Given the description of an element on the screen output the (x, y) to click on. 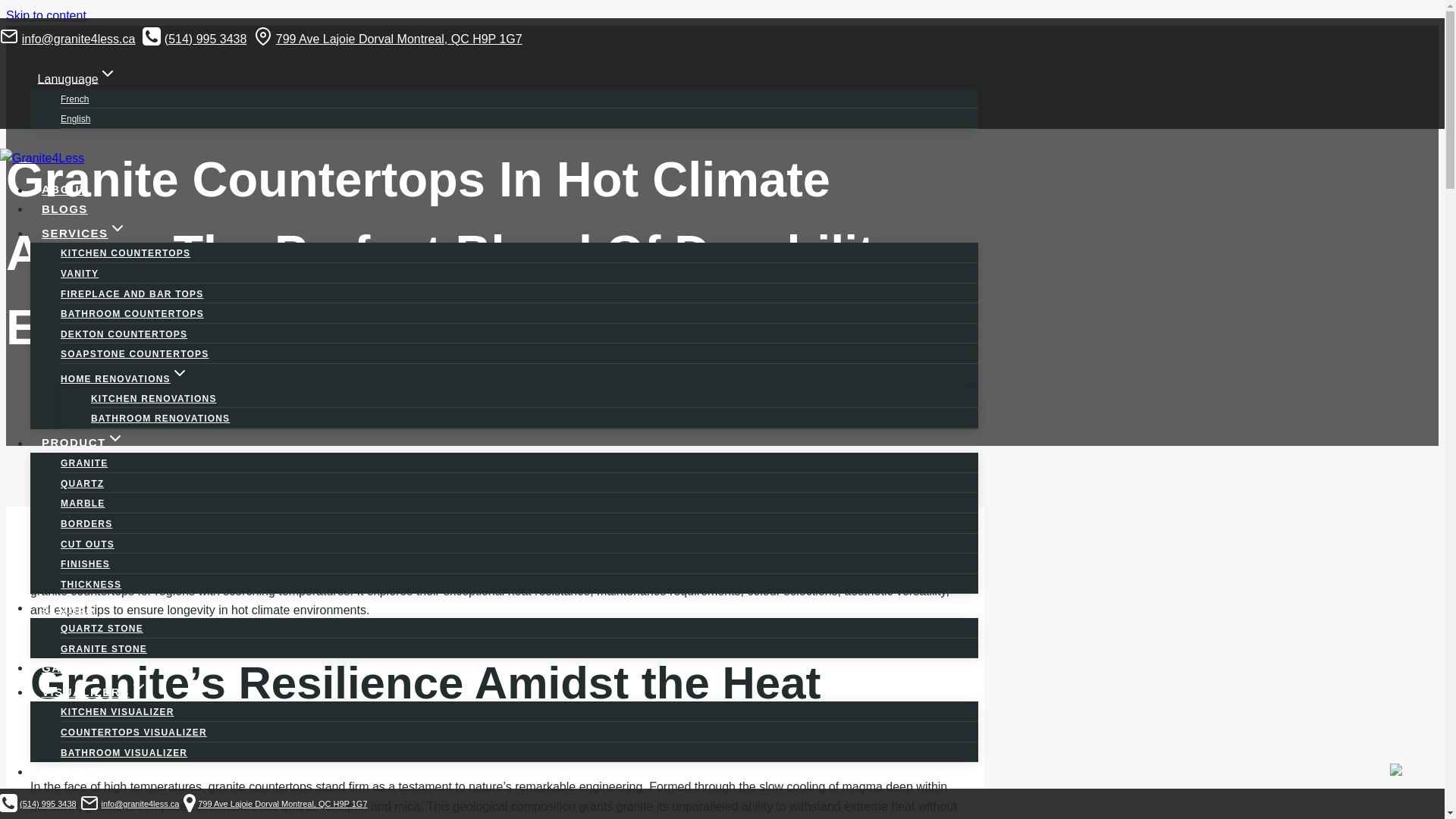
EXPAND (138, 687)
SOAPSTONE COUNTERTOPS (134, 353)
VANITY (80, 273)
English (75, 118)
LanuguageExpand (76, 78)
BATHROOM RENOVATIONS (160, 418)
EXPAND (103, 602)
Email (8, 36)
Skip to content (45, 15)
MARBLE (82, 502)
